Given the description of an element on the screen output the (x, y) to click on. 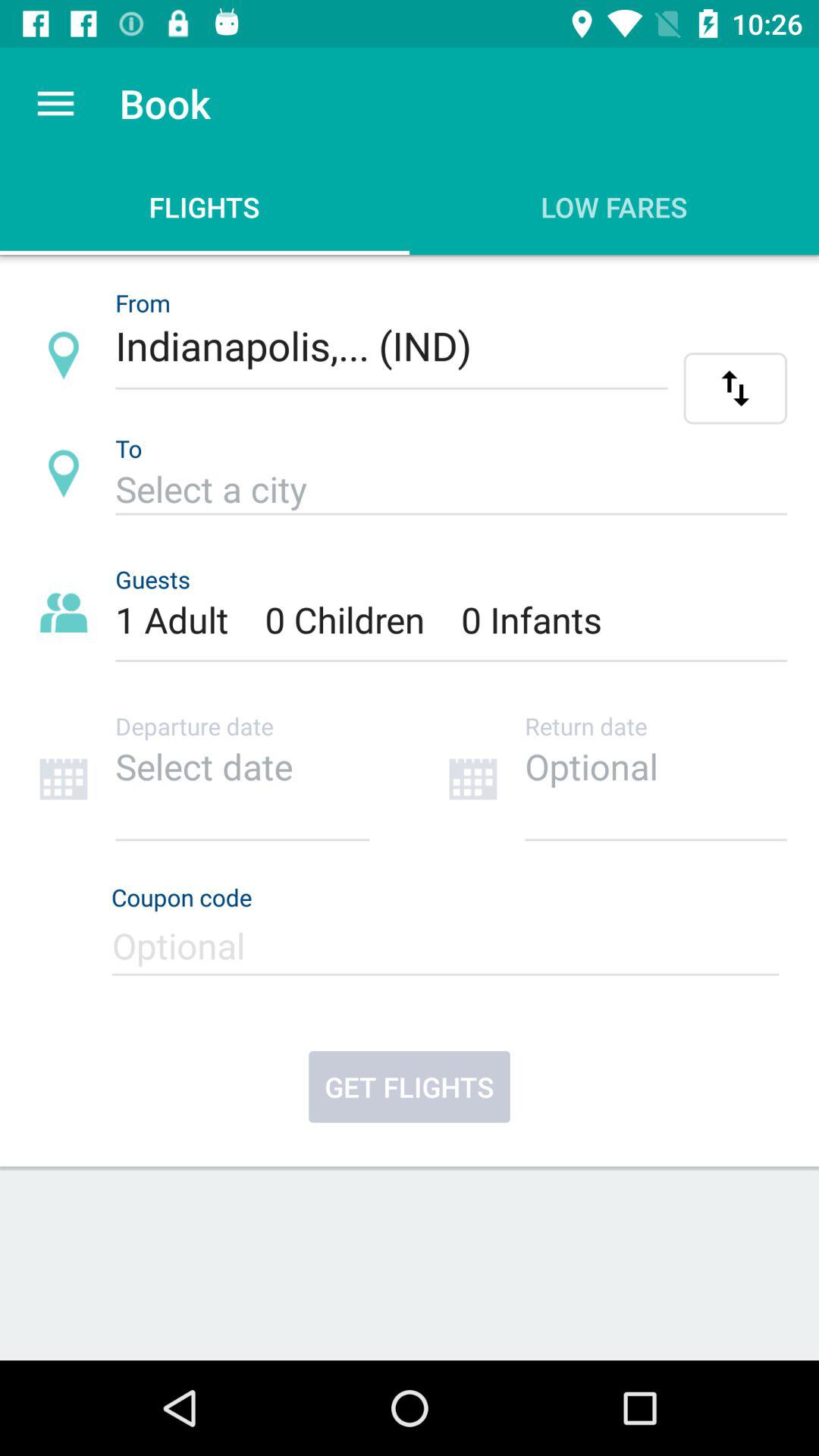
enter coupon code (449, 952)
